Given the description of an element on the screen output the (x, y) to click on. 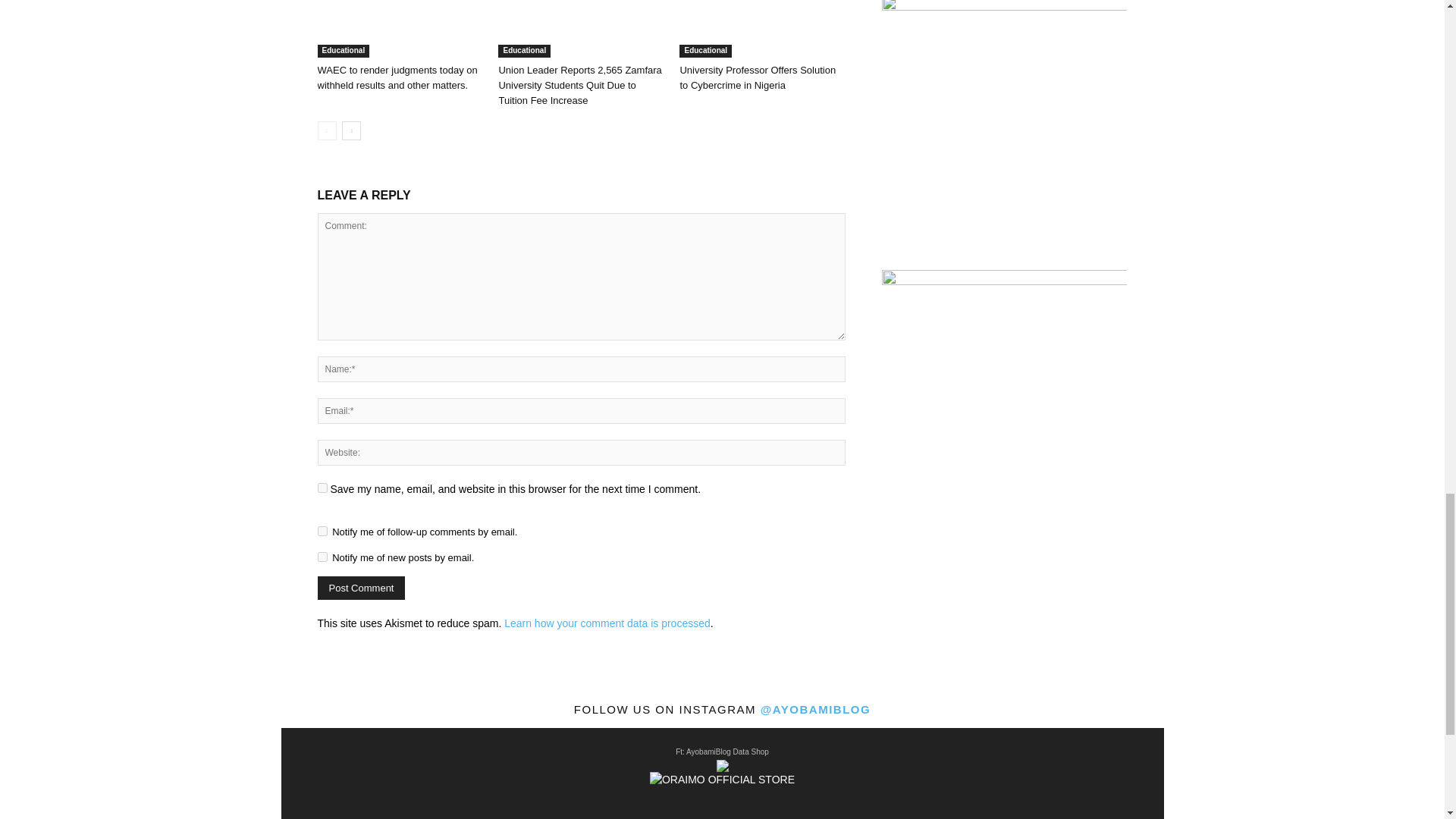
subscribe (321, 556)
Post Comment (360, 587)
subscribe (321, 531)
yes (321, 488)
